Given the description of an element on the screen output the (x, y) to click on. 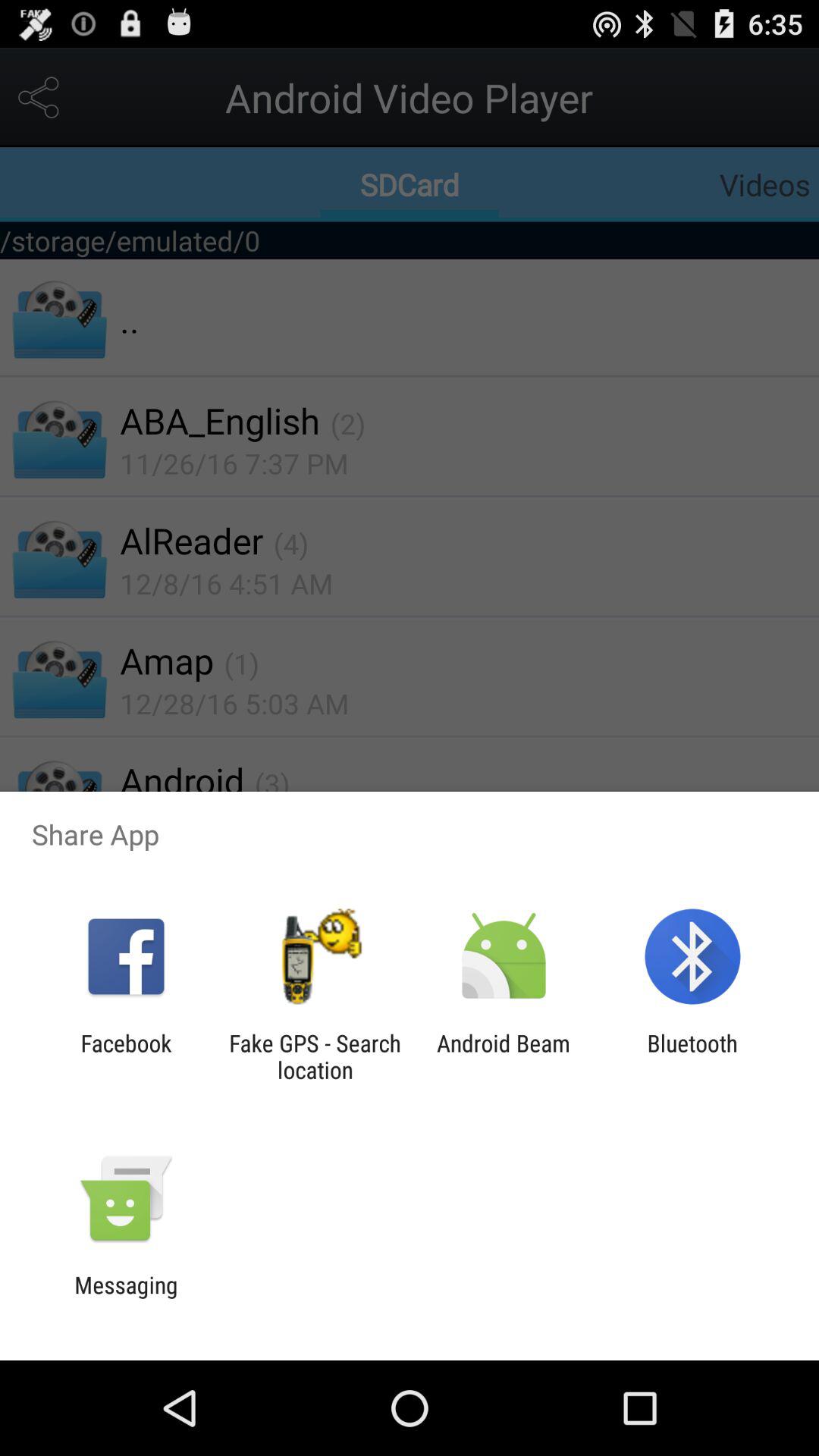
press the app to the left of the bluetooth icon (503, 1056)
